Given the description of an element on the screen output the (x, y) to click on. 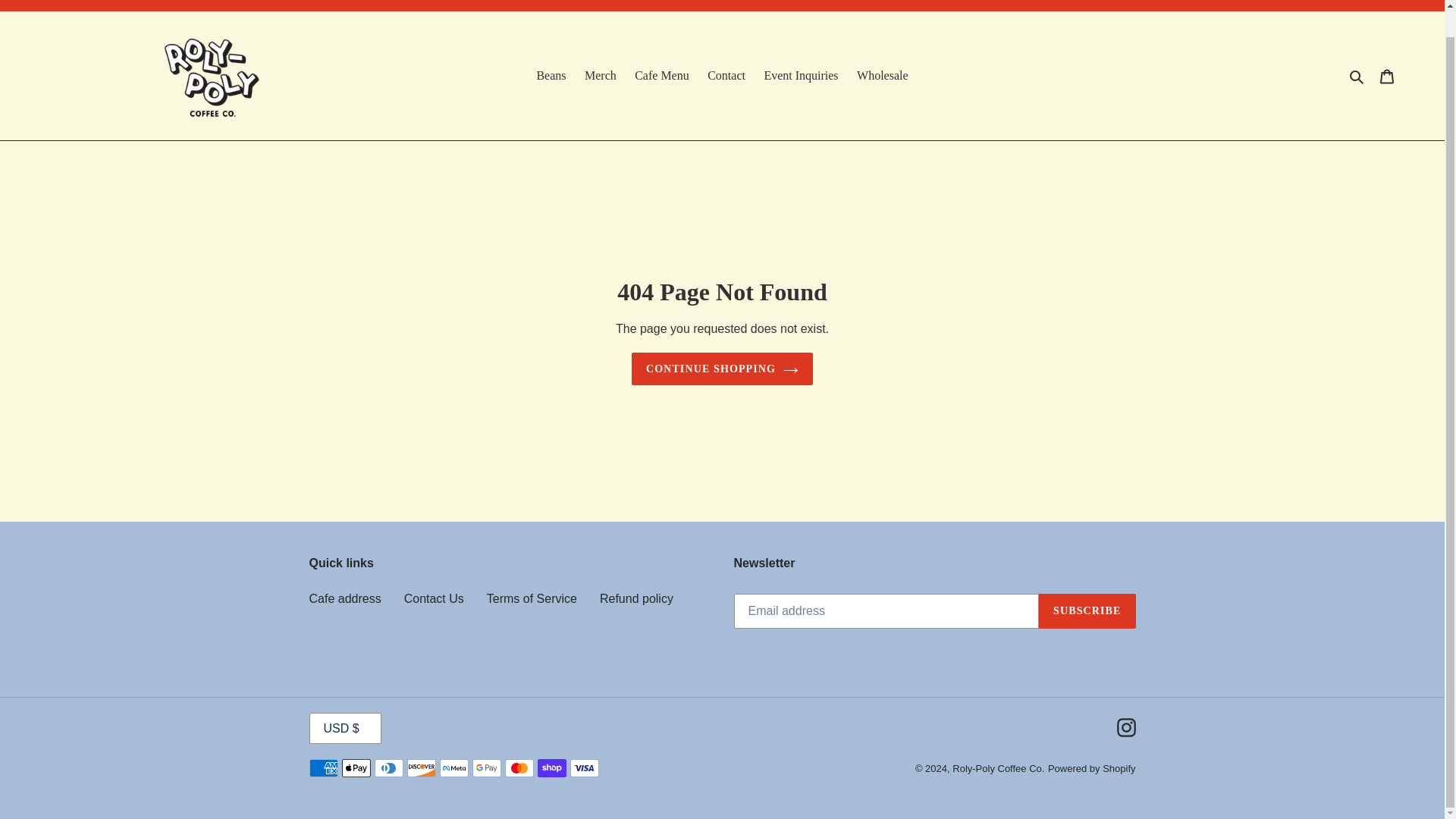
Search (1357, 75)
Cafe Menu (662, 75)
CONTINUE SHOPPING (721, 368)
Cafe address (344, 598)
SUBSCRIBE (1087, 610)
Merch (600, 75)
Contact Us (434, 598)
Contact (726, 75)
Beans (550, 75)
Event Inquiries (800, 75)
Refund policy (635, 598)
Terms of Service (531, 598)
Cart (1387, 75)
Wholesale (881, 75)
